Given the description of an element on the screen output the (x, y) to click on. 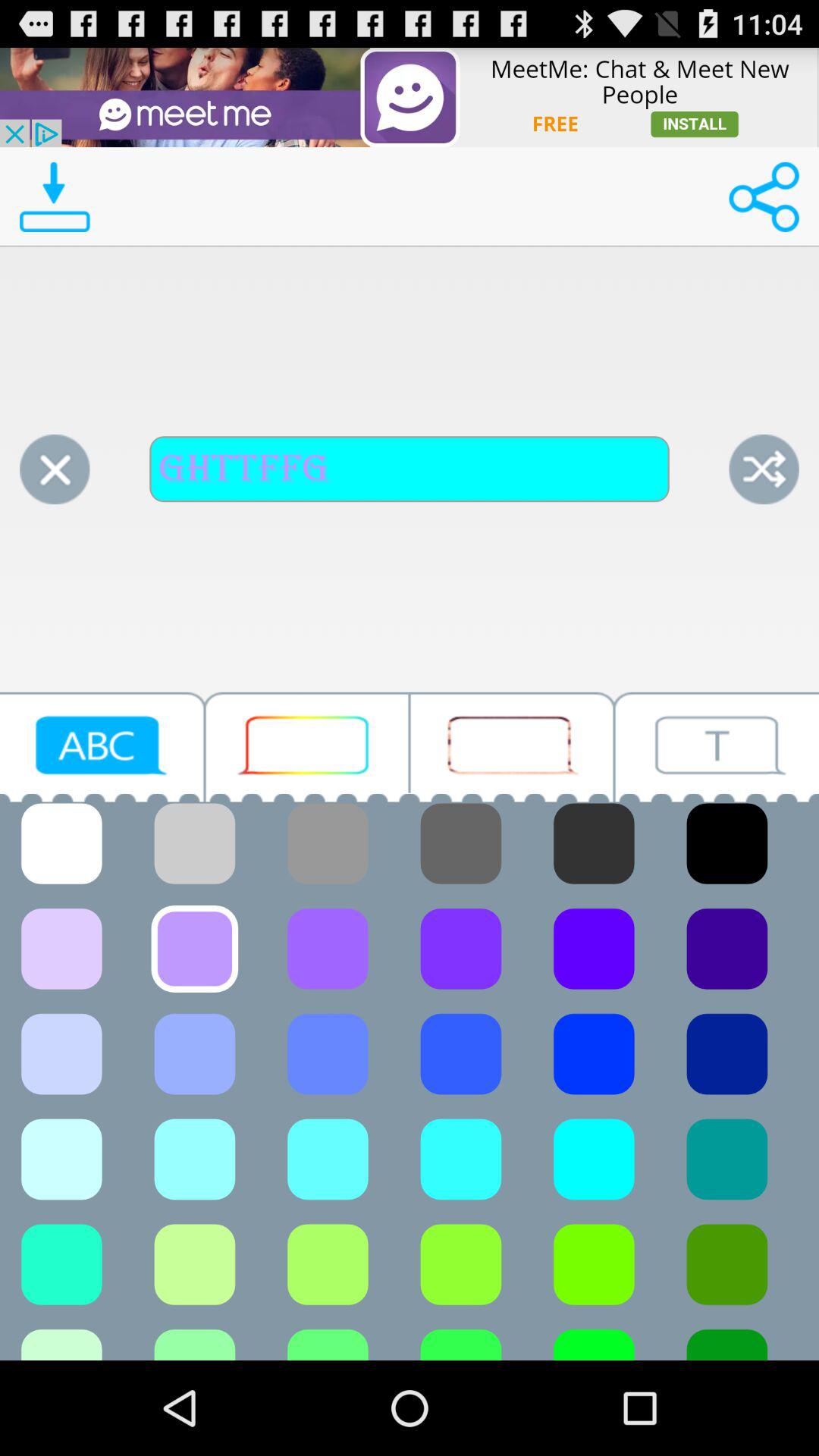
select advertisement (409, 97)
